Given the description of an element on the screen output the (x, y) to click on. 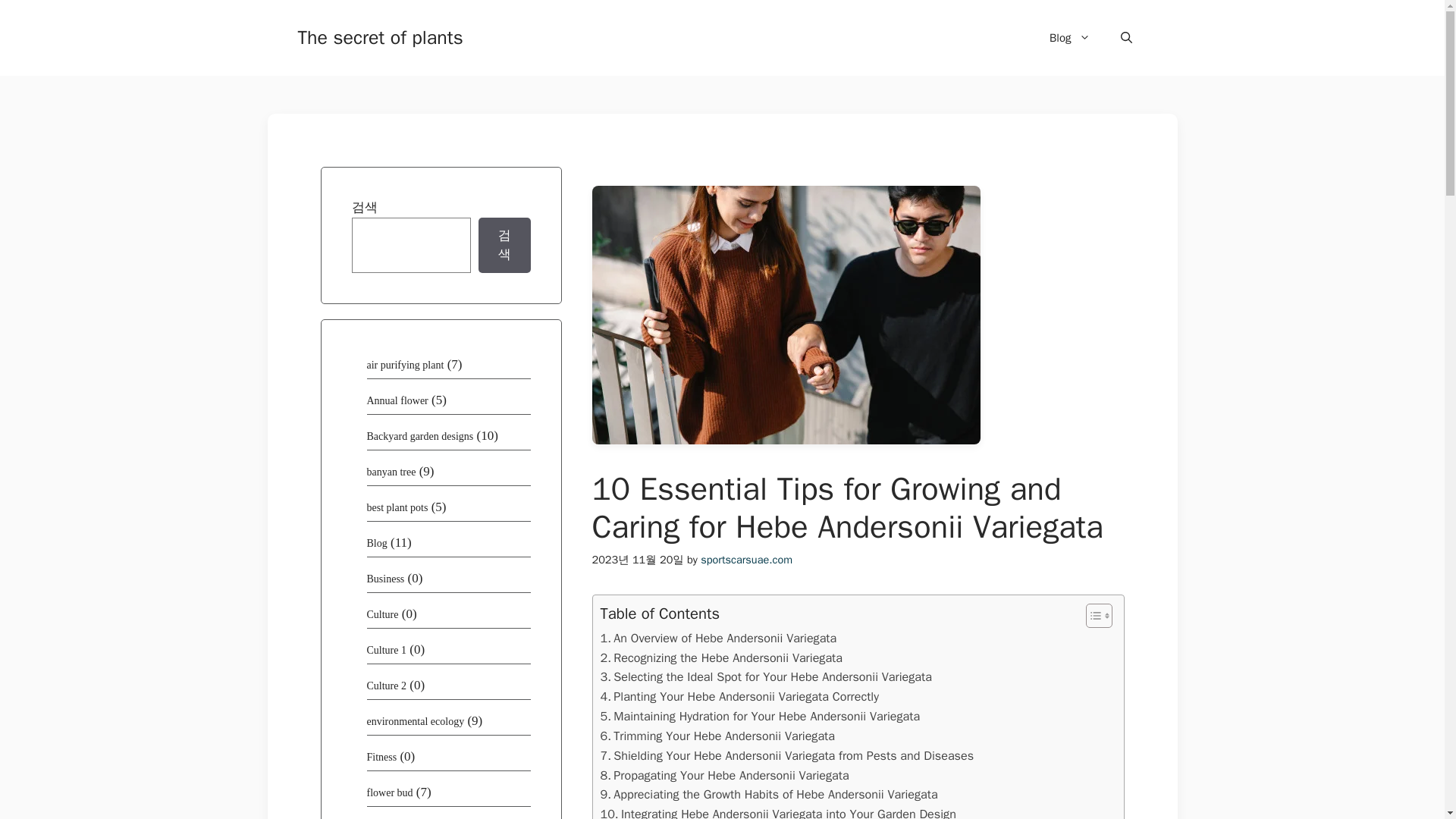
Selecting the Ideal Spot for Your Hebe Andersonii Variegata (765, 677)
Planting Your Hebe Andersonii Variegata Correctly (739, 696)
Backyard garden designs (420, 436)
The secret of plants (380, 37)
Appreciating the Growth Habits of Hebe Andersonii Variegata (768, 794)
Propagating Your Hebe Andersonii Variegata (723, 775)
View all posts by sportscarsuae.com (746, 559)
Selecting the Ideal Spot for Your Hebe Andersonii Variegata (765, 677)
An Overview of Hebe Andersonii Variegata (718, 638)
Trimming Your Hebe Andersonii Variegata (716, 736)
Maintaining Hydration for Your Hebe Andersonii Variegata (759, 716)
Propagating Your Hebe Andersonii Variegata (723, 775)
Maintaining Hydration for Your Hebe Andersonii Variegata (759, 716)
Recognizing the Hebe Andersonii Variegata (721, 658)
